Given the description of an element on the screen output the (x, y) to click on. 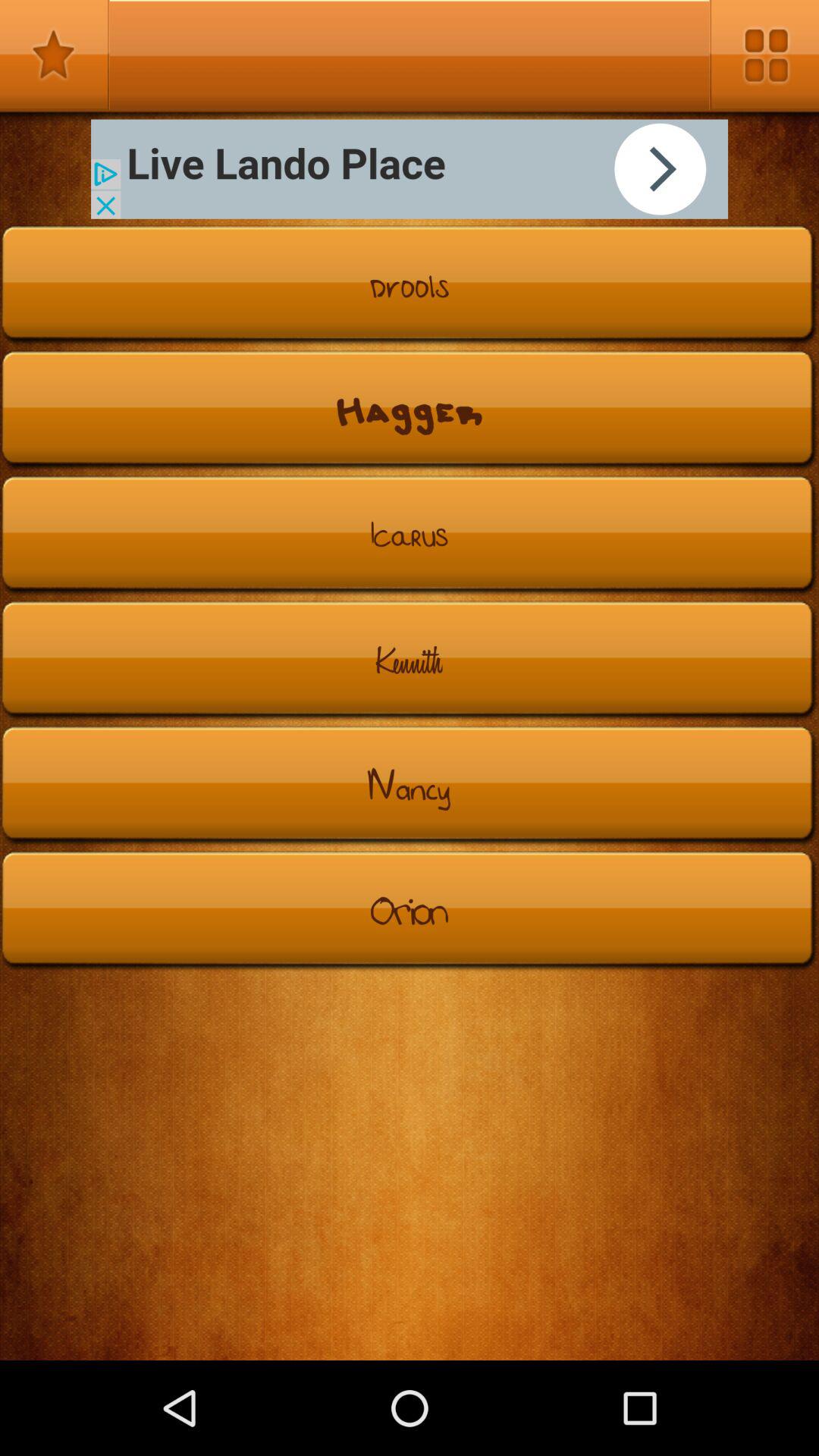
option menu (764, 54)
